Given the description of an element on the screen output the (x, y) to click on. 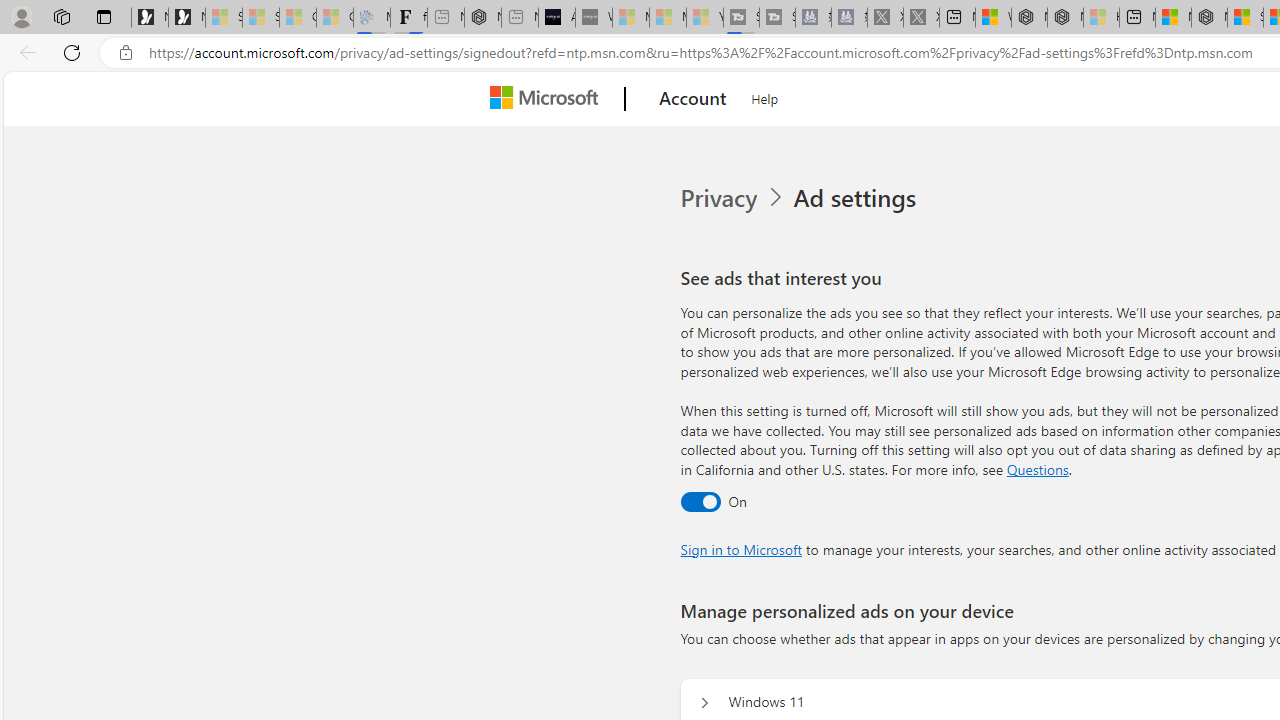
Go to Questions section (1037, 468)
Microsoft (548, 99)
Newsletter Sign Up (186, 17)
Privacy (734, 197)
Account (692, 99)
